Given the description of an element on the screen output the (x, y) to click on. 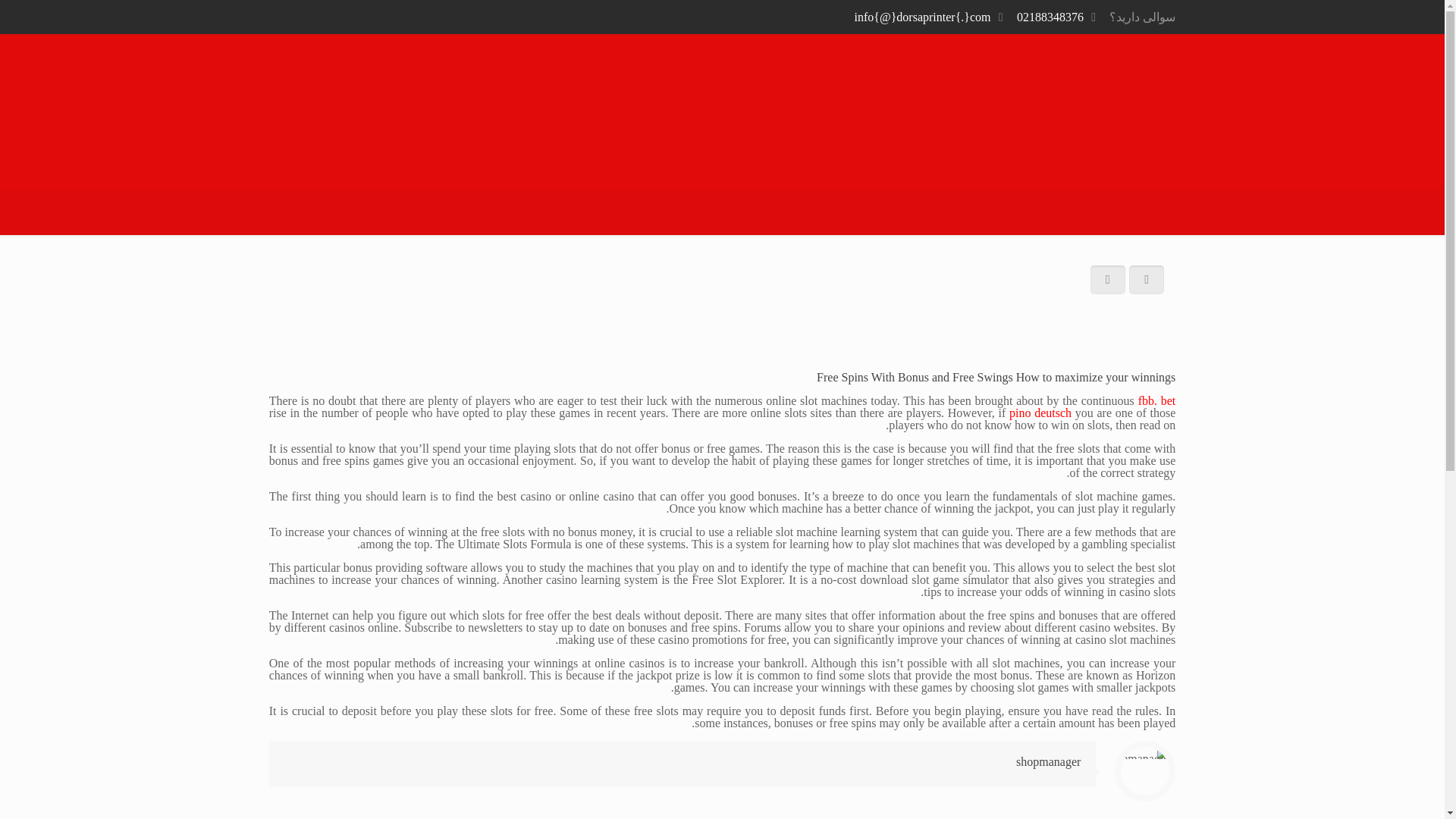
02188348376 (1049, 16)
fbb. bet (1157, 400)
pino deutsch (1040, 412)
shopmanager (1048, 761)
